Given the description of an element on the screen output the (x, y) to click on. 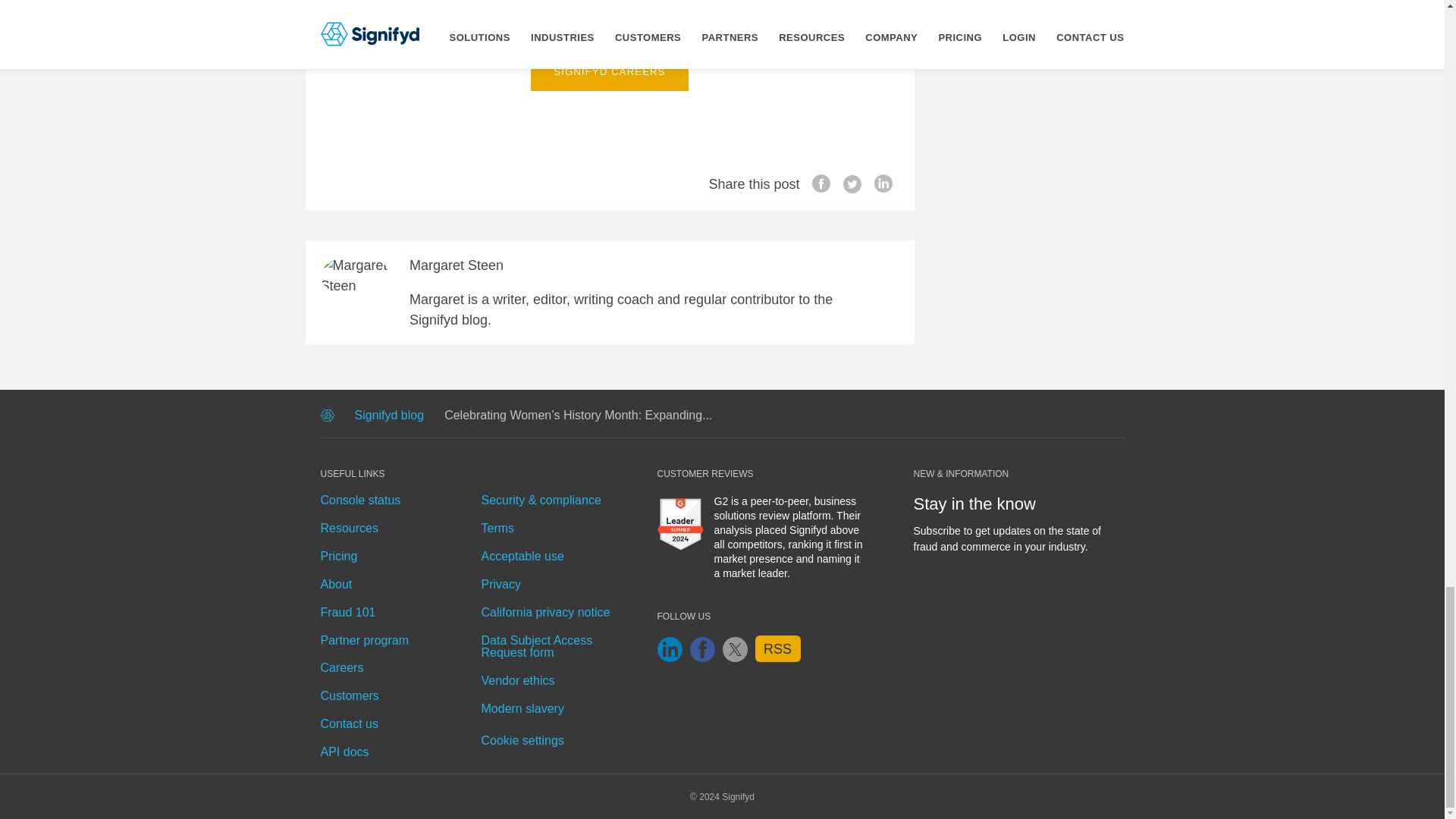
Home page (326, 417)
